Given the description of an element on the screen output the (x, y) to click on. 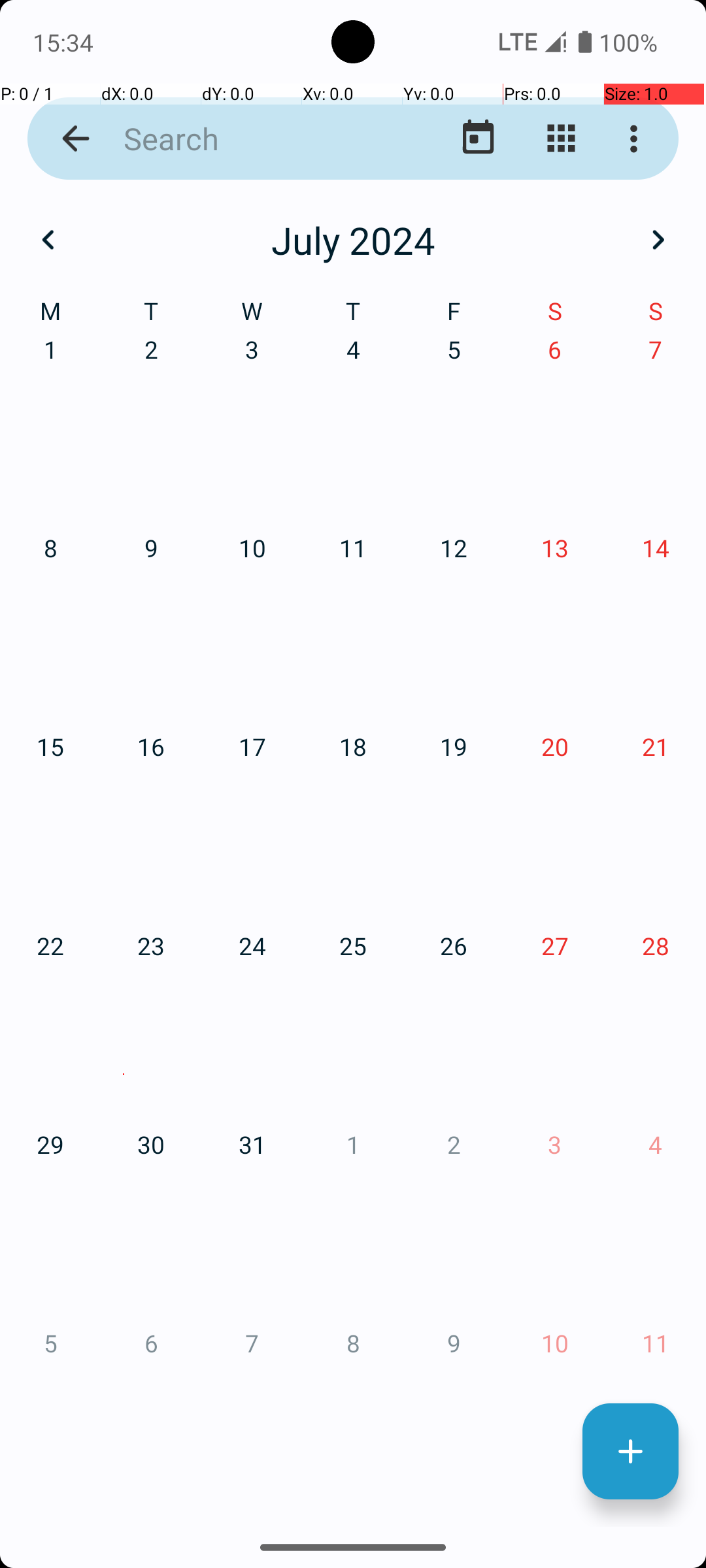
JANUARY Element type: android.widget.TextView (123, 319)
FEBRUARY Element type: android.widget.TextView (352, 319)
MARCH Element type: android.widget.TextView (582, 319)
APRIL Element type: android.widget.TextView (123, 621)
MAY Element type: android.widget.TextView (352, 621)
JUNE Element type: android.widget.TextView (582, 621)
JULY Element type: android.widget.TextView (123, 923)
AUGUST Element type: android.widget.TextView (352, 923)
SEPTEMBER Element type: android.widget.TextView (582, 923)
NOVEMBER Element type: android.widget.TextView (352, 1224)
DECEMBER Element type: android.widget.TextView (582, 1224)
July 2024 Element type: android.widget.TextView (352, 239)
